Given the description of an element on the screen output the (x, y) to click on. 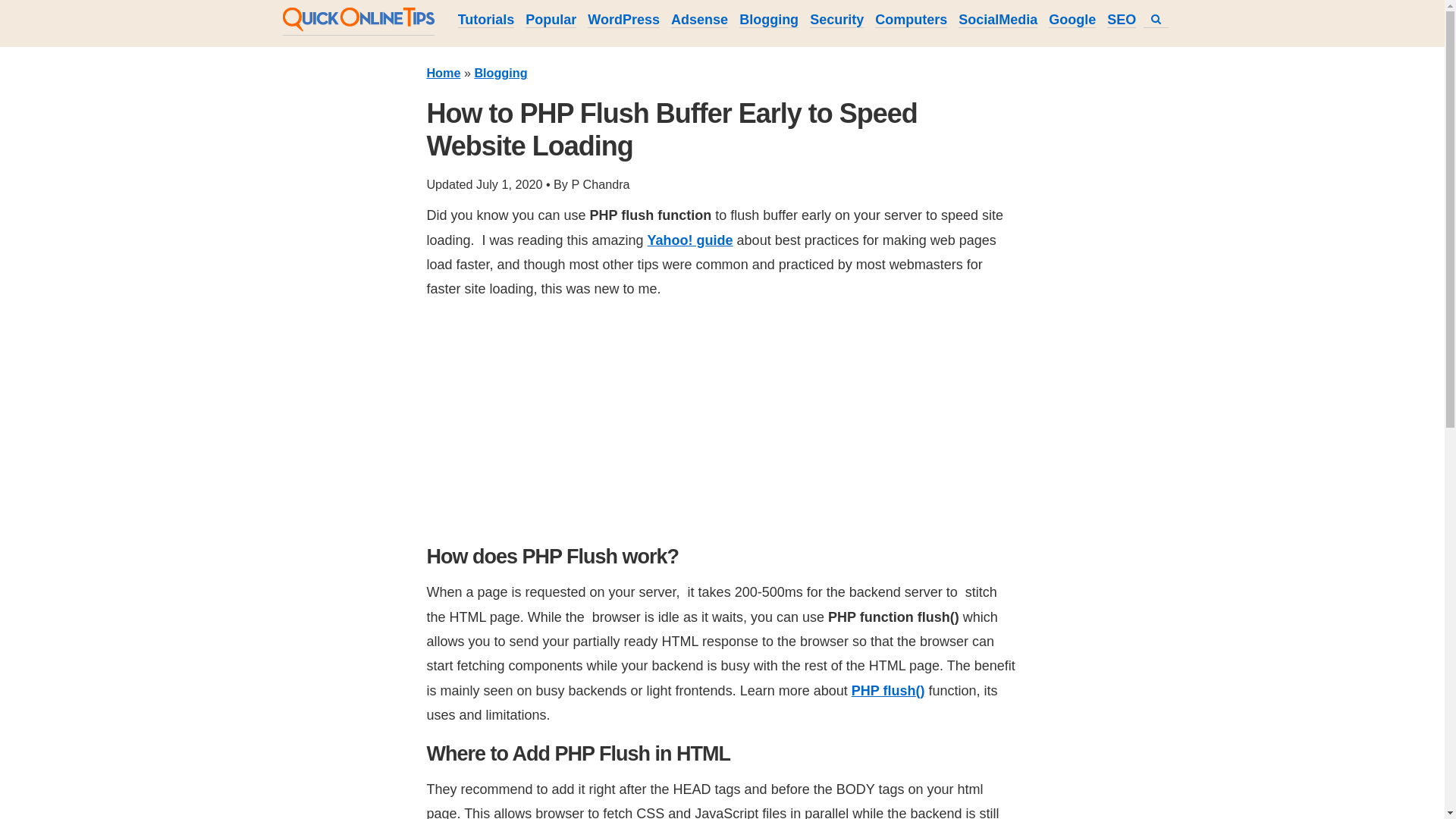
Search (1155, 18)
SEO (1120, 19)
Yahoo! guide (690, 240)
Security (836, 19)
Search (1155, 19)
Computers (911, 19)
Google (1072, 19)
SocialMedia (997, 19)
Blogging (768, 19)
Quick Online Tips (357, 27)
Popular (550, 19)
Home (443, 72)
Tutorials (486, 19)
WordPress (623, 19)
Search (1155, 19)
